Given the description of an element on the screen output the (x, y) to click on. 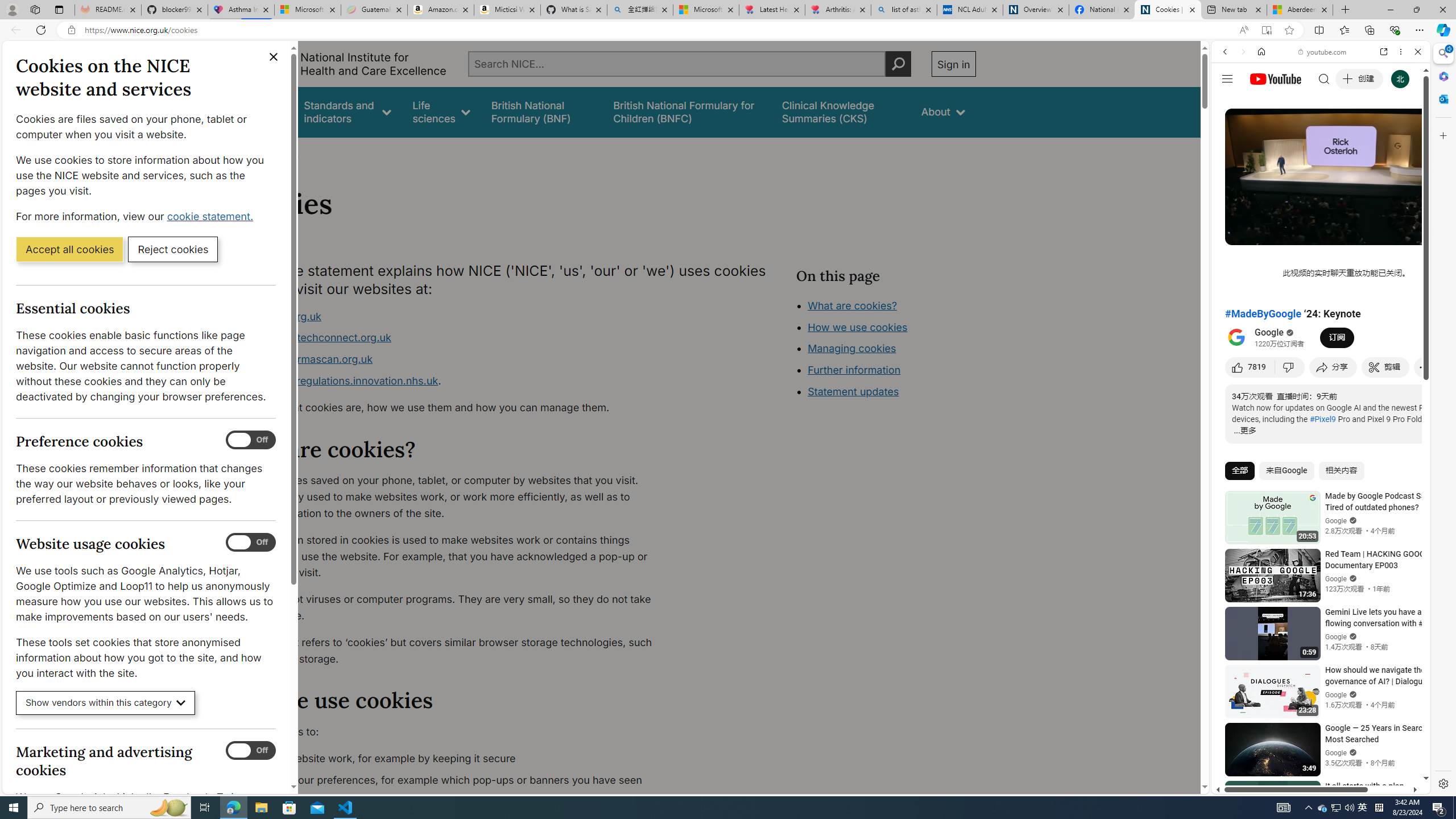
www.nice.org.uk (279, 315)
Music (1320, 309)
www.nice.org.uk (452, 316)
Forward (1242, 51)
About (283, 152)
